Given the description of an element on the screen output the (x, y) to click on. 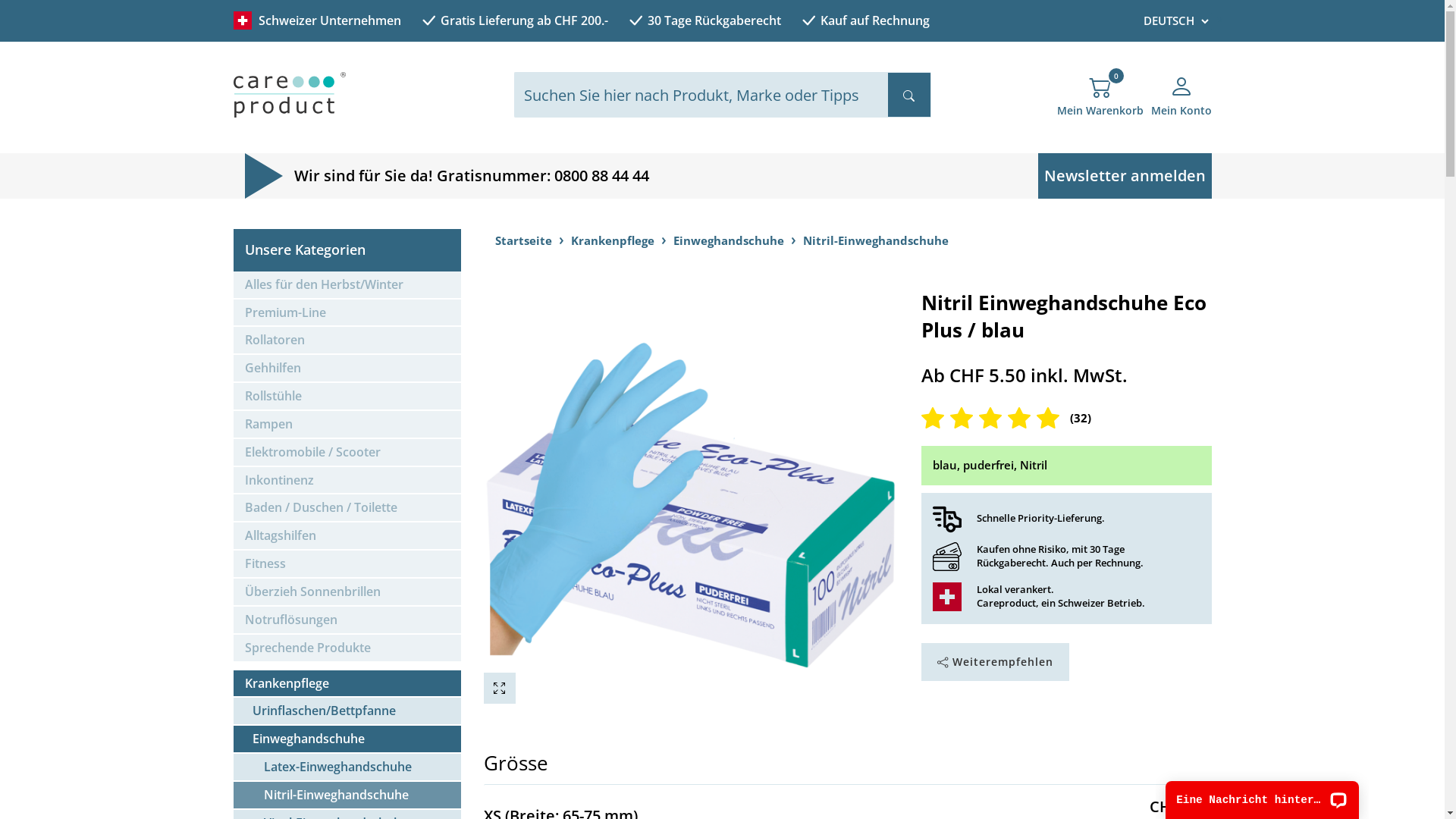
Urinflaschen/Bettpfanne Element type: text (347, 711)
Einweghandschuhe Element type: text (347, 739)
Nitril-Einweghandschuhe Element type: text (347, 795)
Baden / Duschen / Toilette Element type: text (347, 508)
0
Mein Warenkorb Element type: text (1100, 101)
Lokal verankert.<br>Careproduct, ein Schweizer Betrieb. Element type: hover (946, 596)
Startseite Element type: text (522, 239)
Rampen Element type: text (347, 425)
* Element type: text (1219, 20)
Premium-Line Element type: text (347, 313)
Alltagshilfen Element type: text (347, 536)
Schnelle Priority-Lieferung. Element type: hover (946, 518)
Krankenpflege Element type: text (347, 684)
Krankenpflege Element type: text (611, 239)
Nitril-Einweghandschuhe Element type: text (874, 239)
Rollatoren Element type: text (347, 340)
Fitness Element type: text (347, 564)
Mein Konto Element type: text (1181, 101)
Gehhilfen Element type: text (347, 368)
Elektromobile / Scooter Element type: text (347, 453)
Newsletter anmelden Element type: text (1124, 175)
Einweghandschuhe Element type: text (728, 239)
Inkontinenz Element type: text (347, 481)
Weiterempfehlen Element type: text (995, 661)
 (32) Element type: text (1066, 418)
Sprechende Produkte Element type: text (347, 648)
Latex-Einweghandschuhe Element type: text (347, 767)
